Given the description of an element on the screen output the (x, y) to click on. 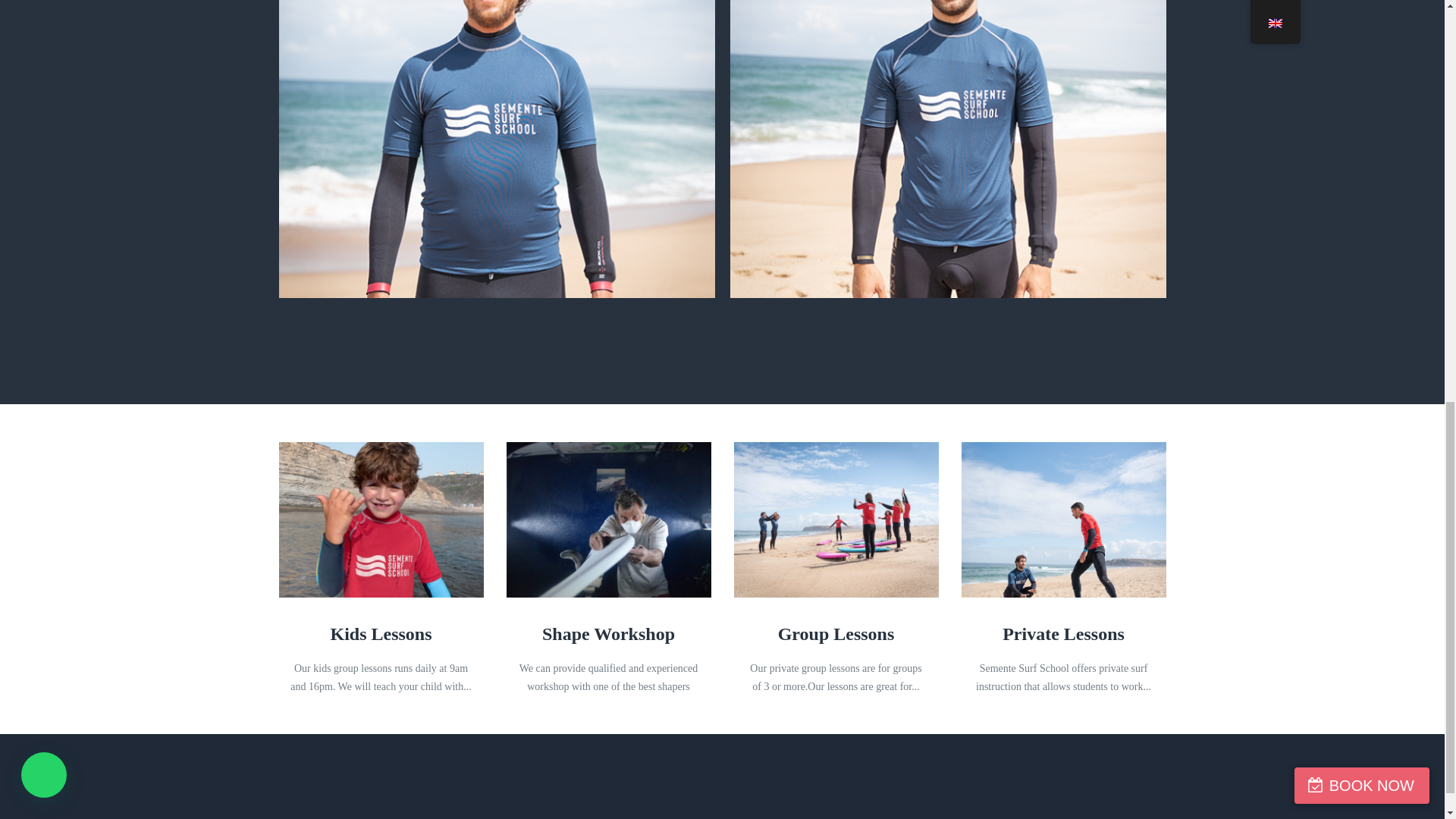
FareHarbor (1342, 64)
